Given the description of an element on the screen output the (x, y) to click on. 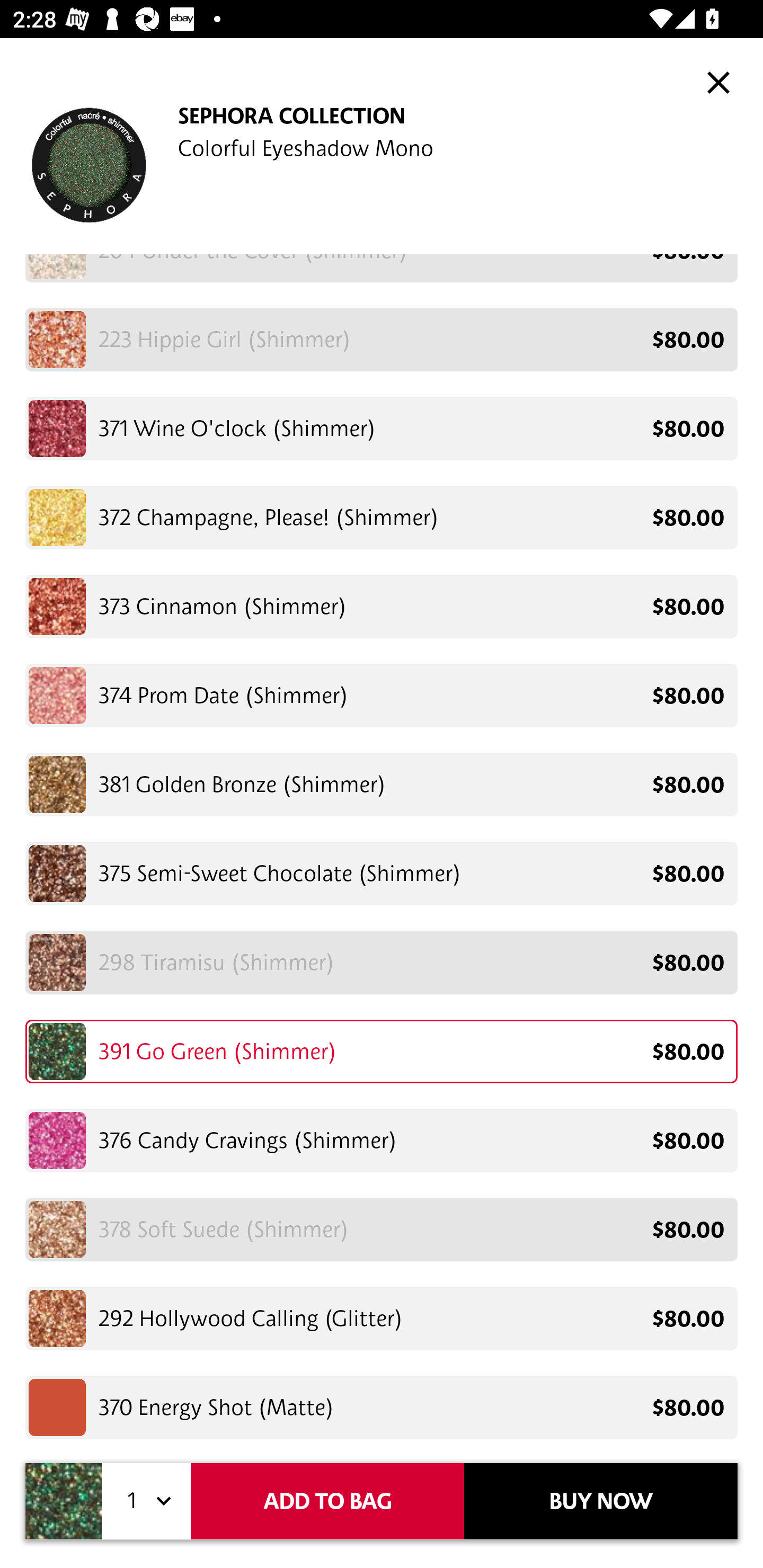
image description (718, 81)
SEPHORA COLLECTION Colorful Eyeshadow Mono (381, 158)
223 Hippie Girl (Shimmer) $80.00 (381, 339)
371 Wine O'clock (Shimmer) $80.00 (381, 428)
372 Champagne, Please! (Shimmer) $80.00 (381, 517)
373 Cinnamon (Shimmer) $80.00 (381, 605)
374 Prom Date (Shimmer) $80.00 (381, 694)
381 Golden Bronze (Shimmer) $80.00 (381, 784)
375 Semi-Sweet Chocolate (Shimmer) $80.00 (381, 873)
298 Tiramisu (Shimmer) $80.00 (381, 962)
391 Go Green (Shimmer) $80.00 (381, 1050)
376 Candy Cravings (Shimmer) $80.00 (381, 1140)
378 Soft Suede (Shimmer) $80.00 (381, 1228)
292 Hollywood Calling (Glitter) $80.00 (381, 1318)
370 Energy Shot (Matte) $80.00 (381, 1403)
1 (145, 1500)
ADD TO BAG (326, 1500)
BUY NOW (600, 1500)
